Given the description of an element on the screen output the (x, y) to click on. 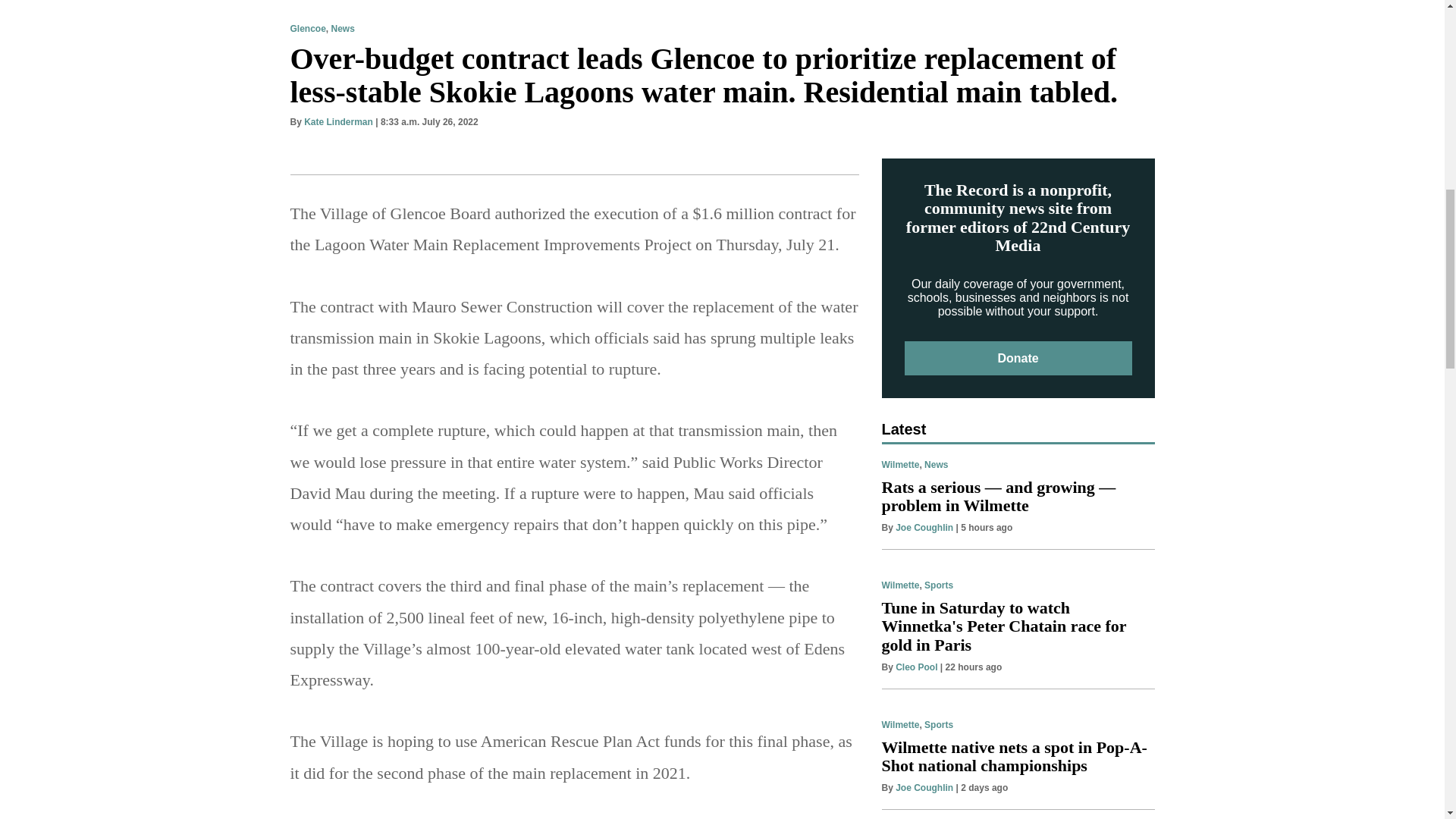
Glencoe (306, 28)
News (343, 28)
Kate Linderman (338, 122)
